Given the description of an element on the screen output the (x, y) to click on. 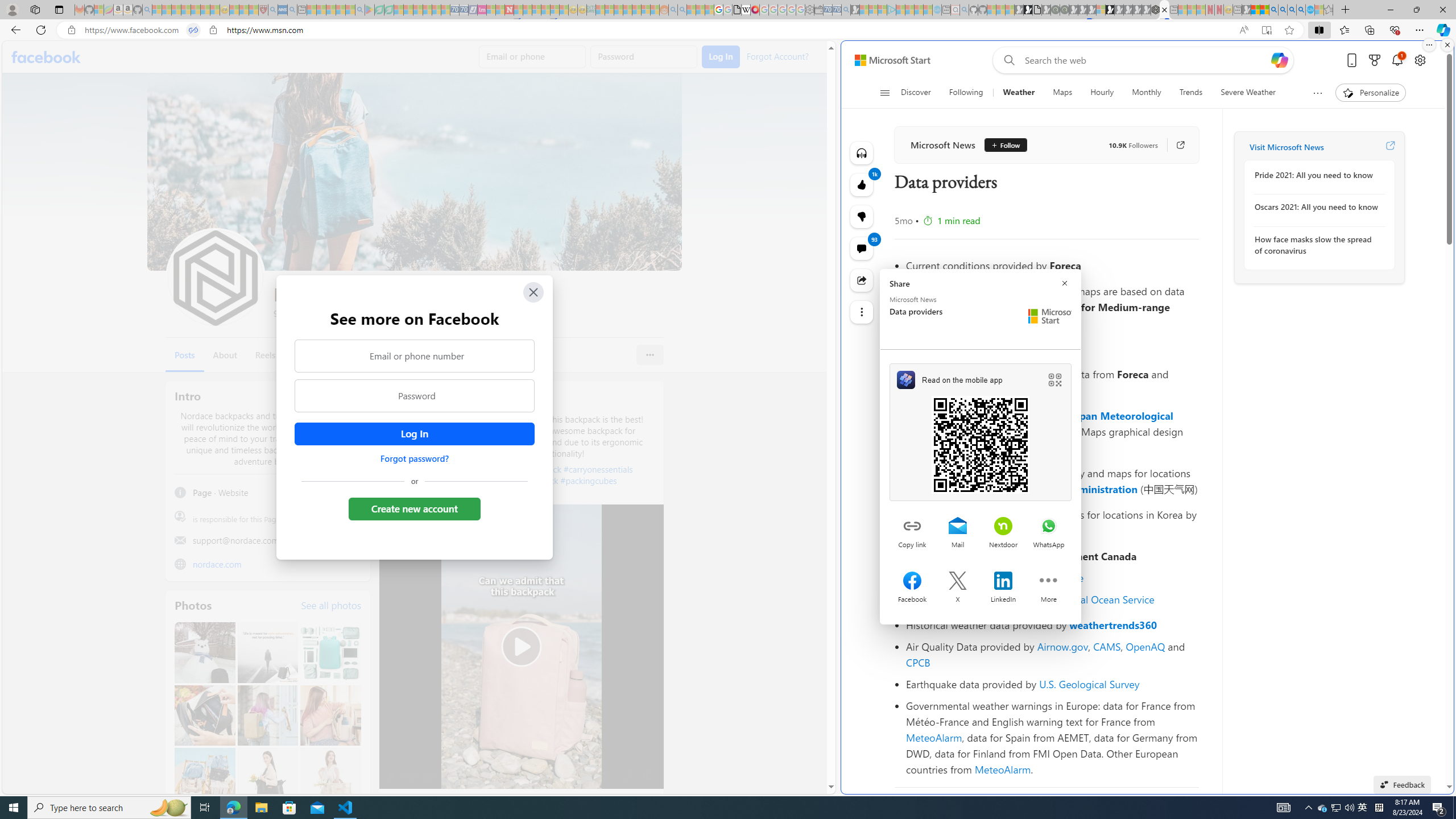
Target page - Wikipedia (745, 9)
More share options (1048, 581)
Forgot Account? (776, 55)
